Given the description of an element on the screen output the (x, y) to click on. 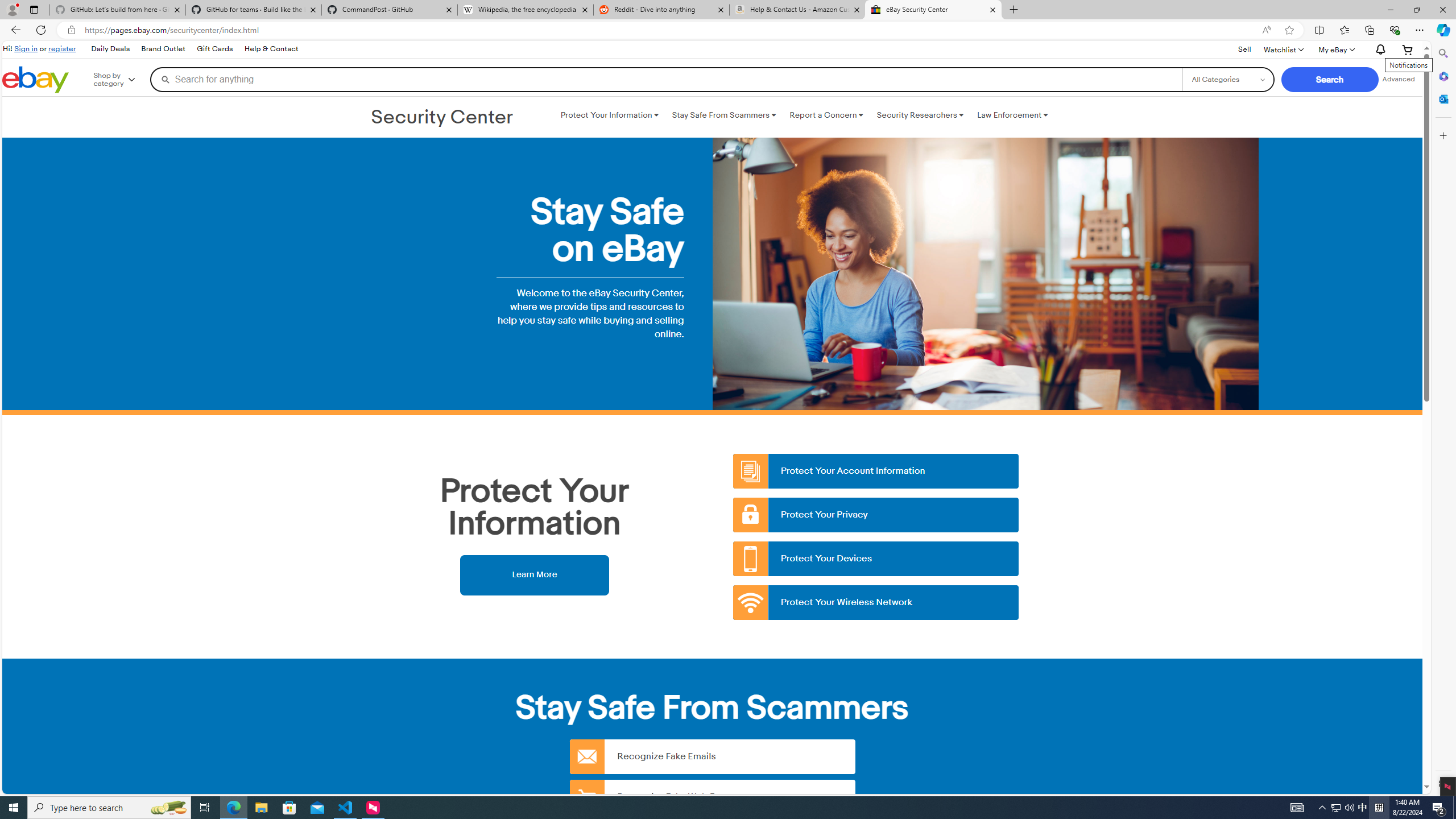
WatchlistExpand Watch List (1282, 49)
Protect Your Wireless Network (876, 602)
Expand Cart (1407, 49)
register (61, 48)
Sell (1244, 49)
eBay Home (35, 79)
Security Researchers  (919, 115)
